Given the description of an element on the screen output the (x, y) to click on. 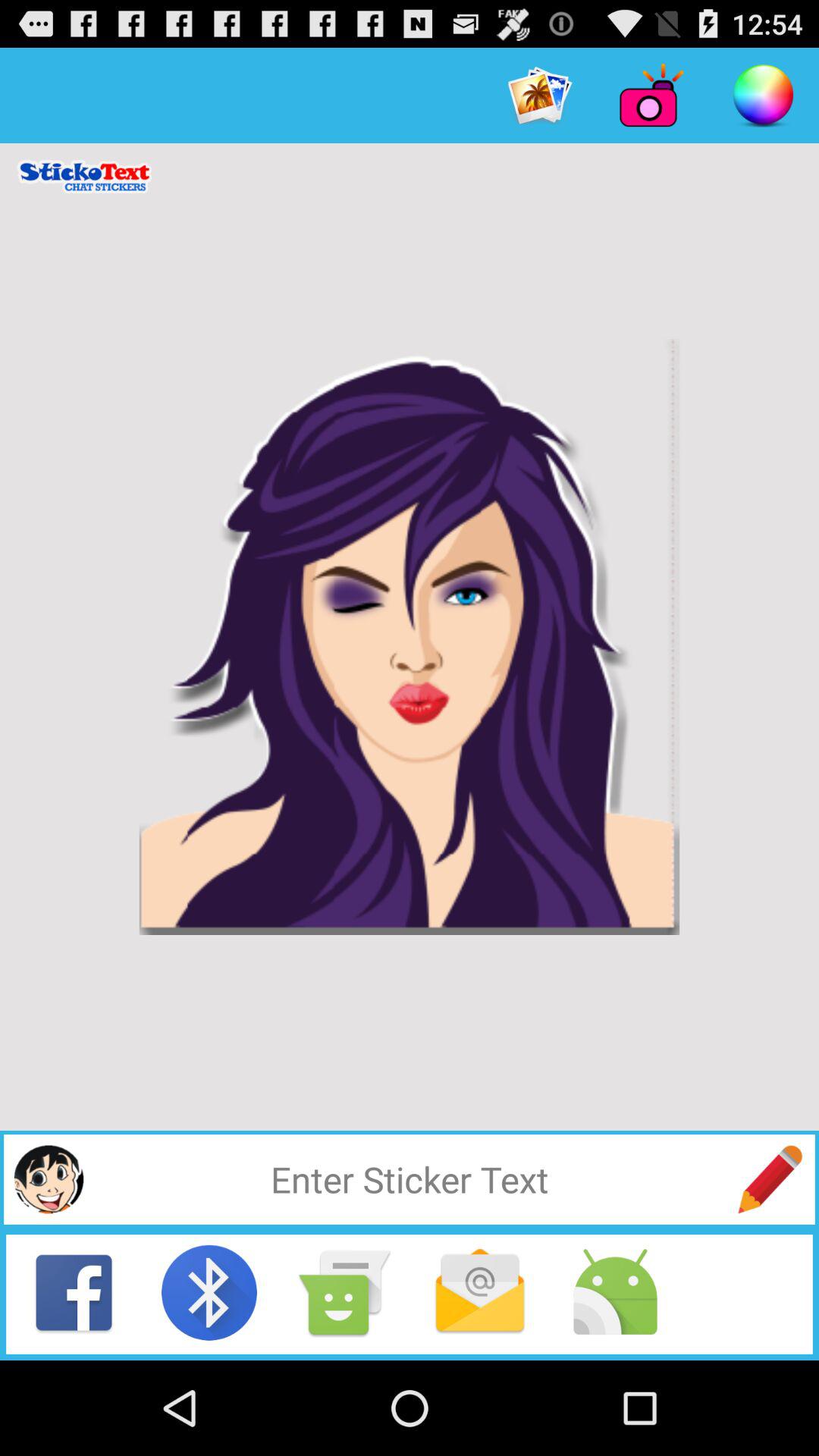
enable bluetooth (209, 1292)
